Given the description of an element on the screen output the (x, y) to click on. 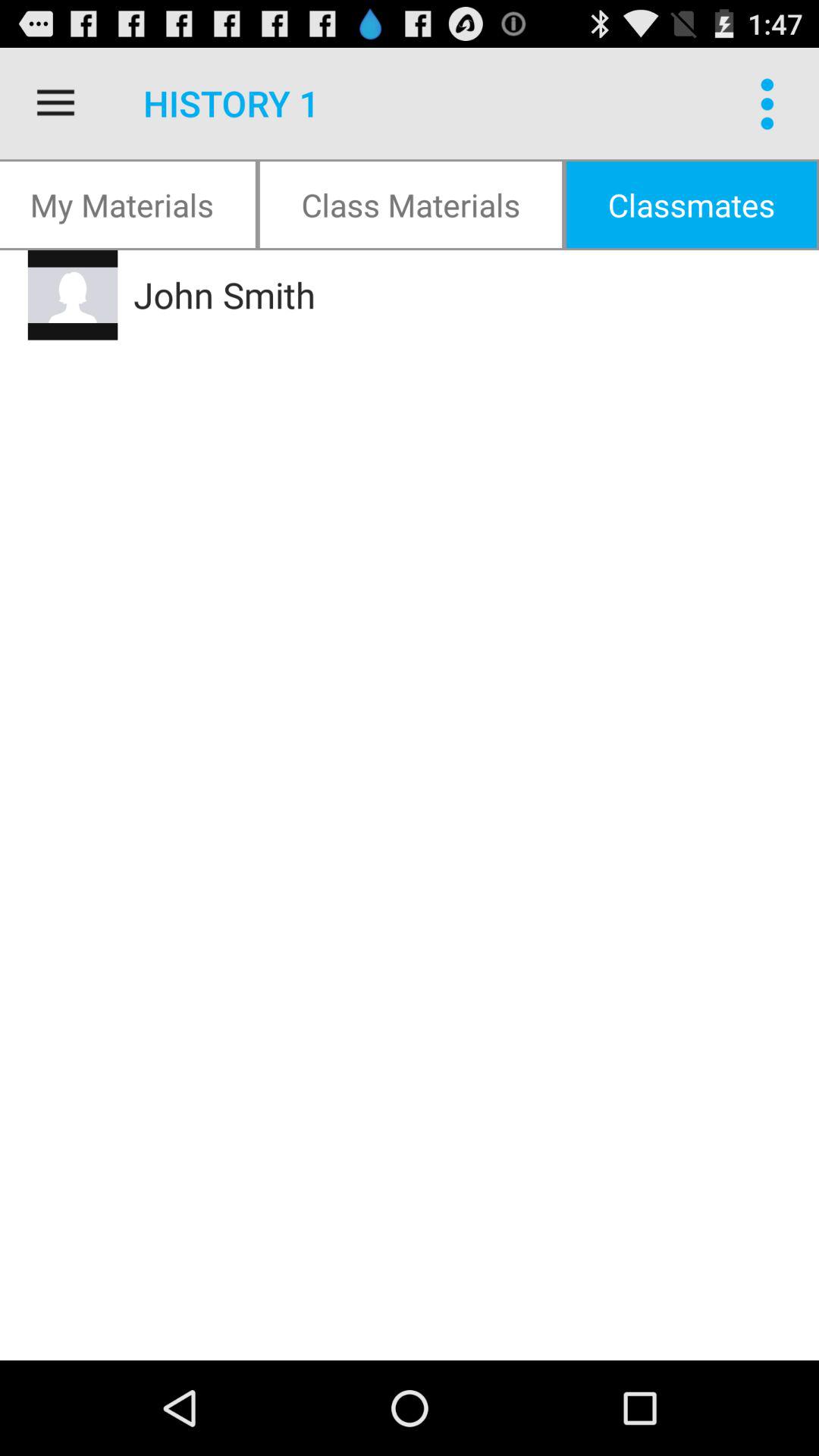
launch icon to the left of classmates item (410, 204)
